Given the description of an element on the screen output the (x, y) to click on. 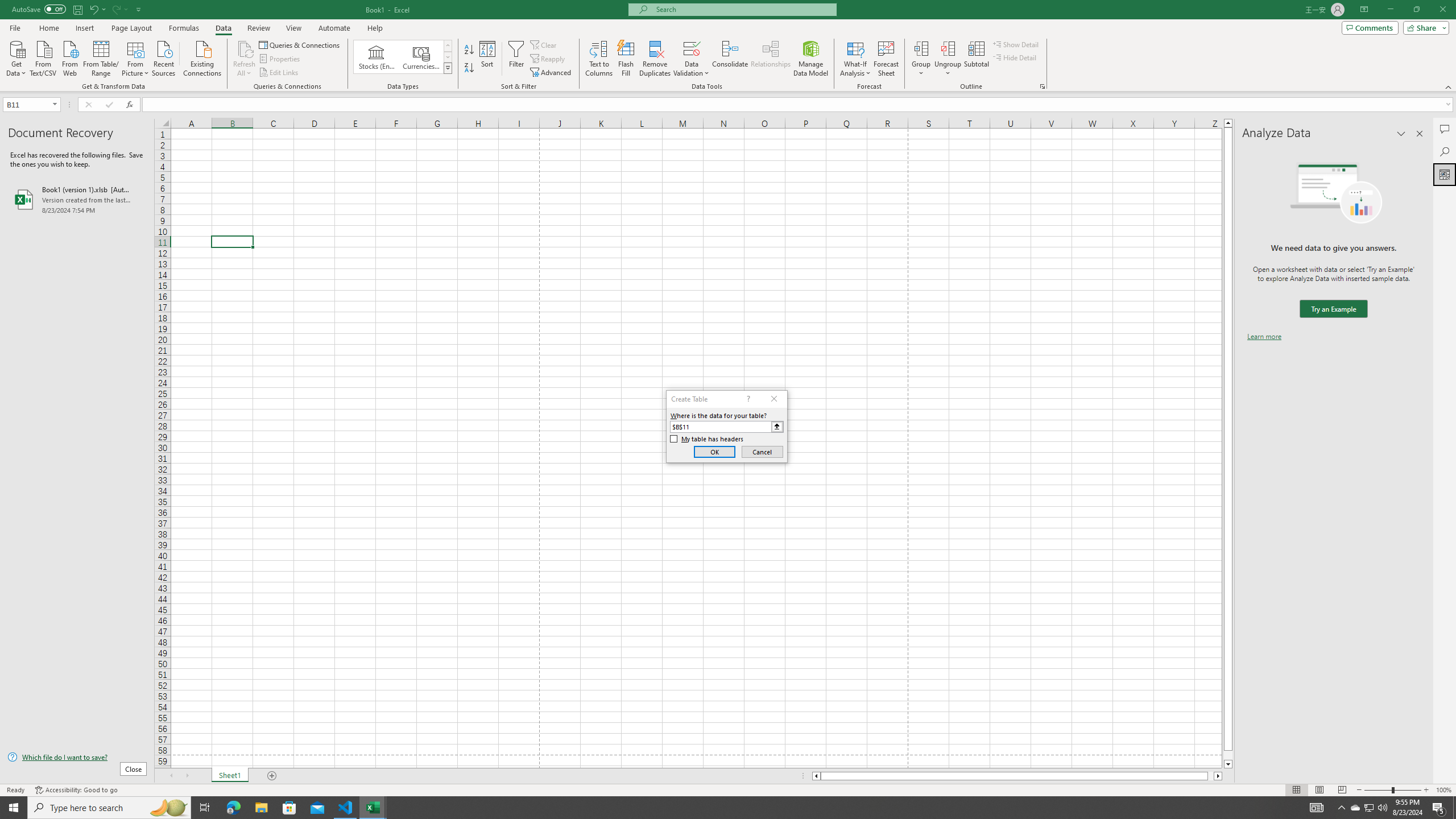
From Web (69, 57)
Forecast Sheet (885, 58)
Flash Fill (625, 58)
Search (1444, 151)
Edit Links (279, 72)
Text to Columns... (598, 58)
